Given the description of an element on the screen output the (x, y) to click on. 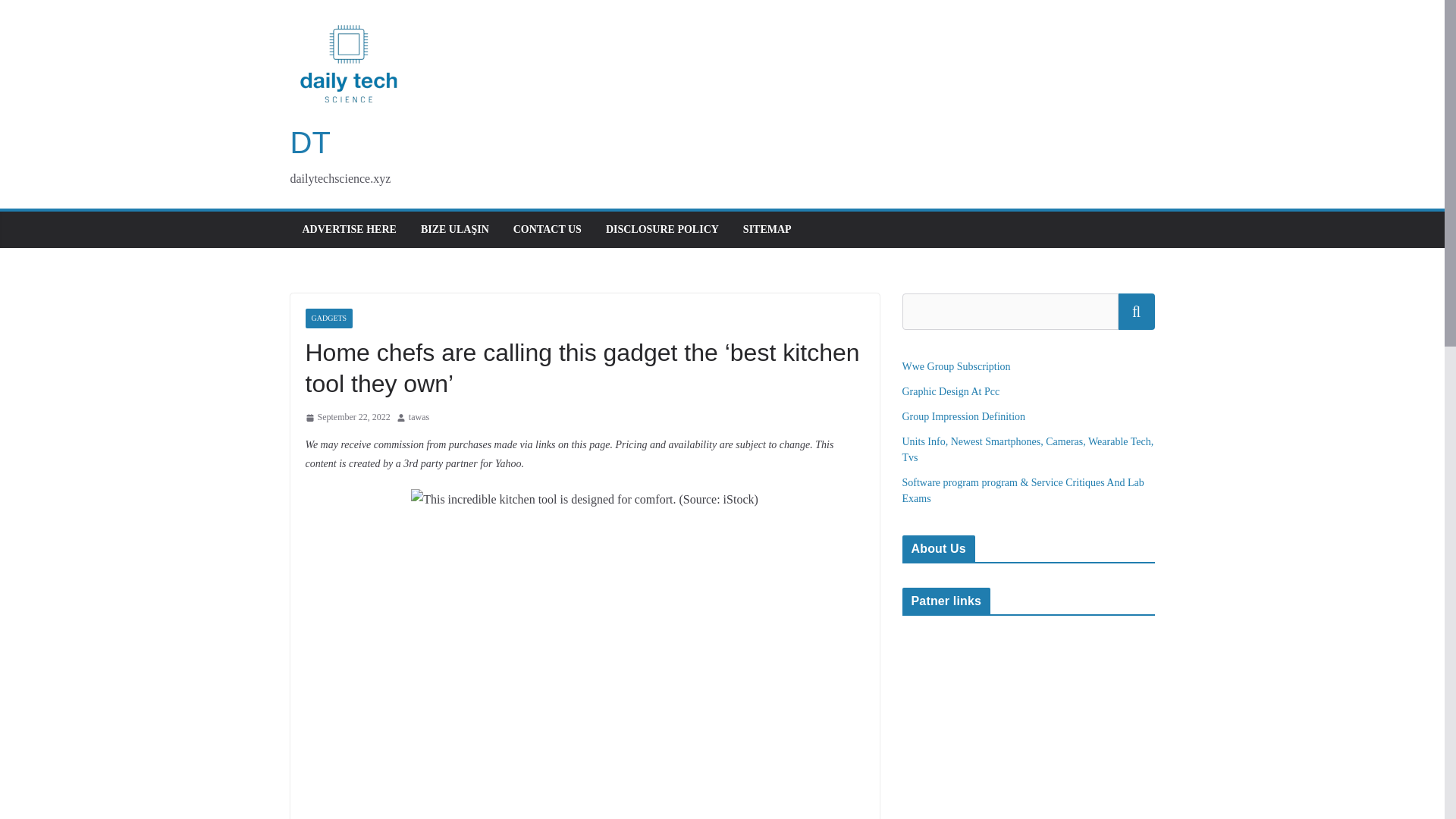
GADGETS (328, 318)
ADVERTISE HERE (348, 229)
Wwe Group Subscription (956, 366)
10:58 am (347, 417)
Search (1136, 311)
September 22, 2022 (347, 417)
tawas (419, 417)
tawas (419, 417)
Graphic Design At Pcc (951, 391)
DISCLOSURE POLICY (662, 229)
Units Info, Newest Smartphones, Cameras, Wearable Tech, Tvs (1028, 449)
Group Impression Definition (964, 416)
CONTACT US (546, 229)
DT (309, 142)
DT (309, 142)
